Given the description of an element on the screen output the (x, y) to click on. 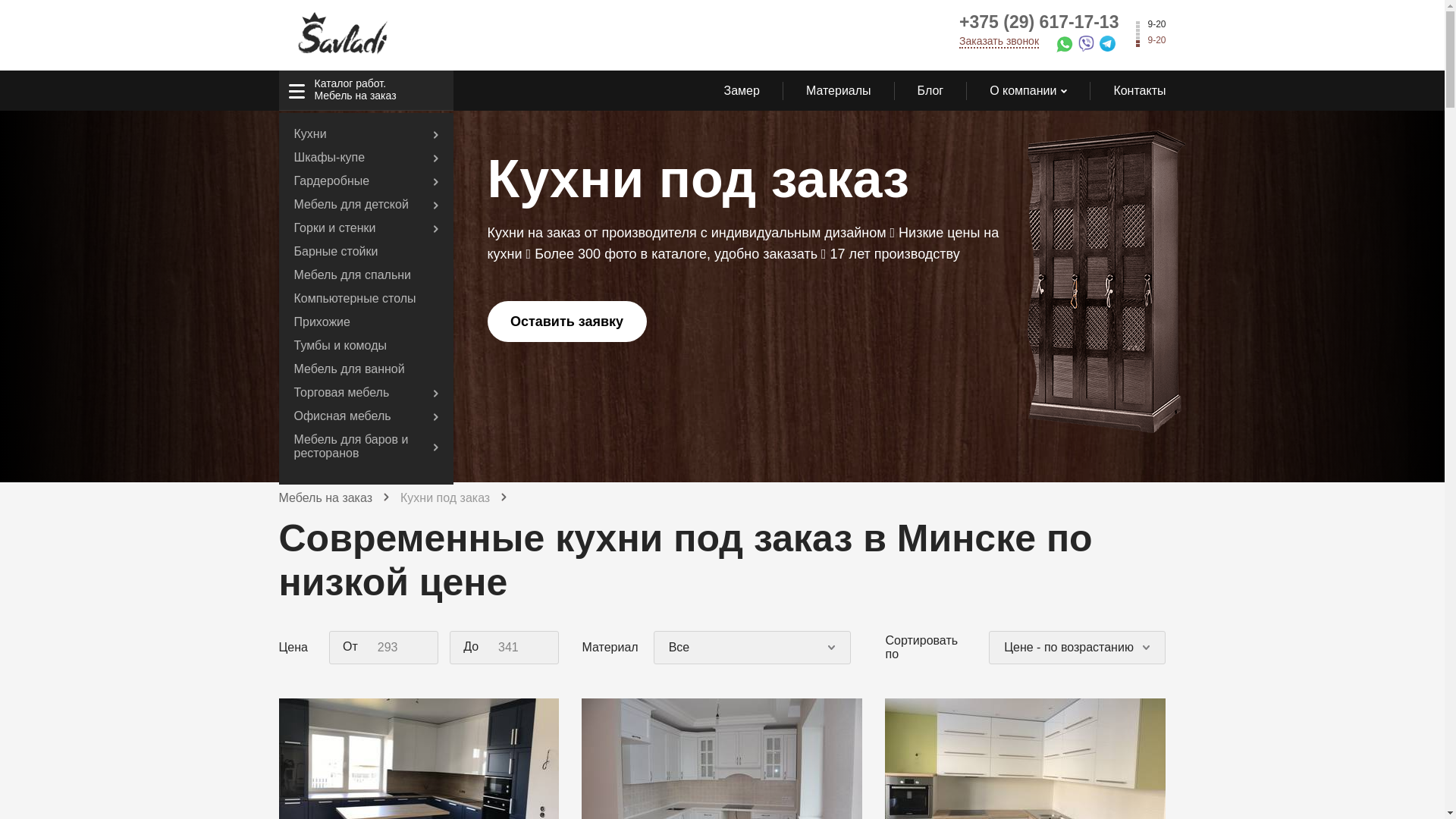
viber Element type: hover (1089, 46)
whatsapp Element type: hover (1067, 47)
+375 (29) 617-17-13 Element type: text (1038, 21)
telegram Element type: hover (1111, 46)
